Given the description of an element on the screen output the (x, y) to click on. 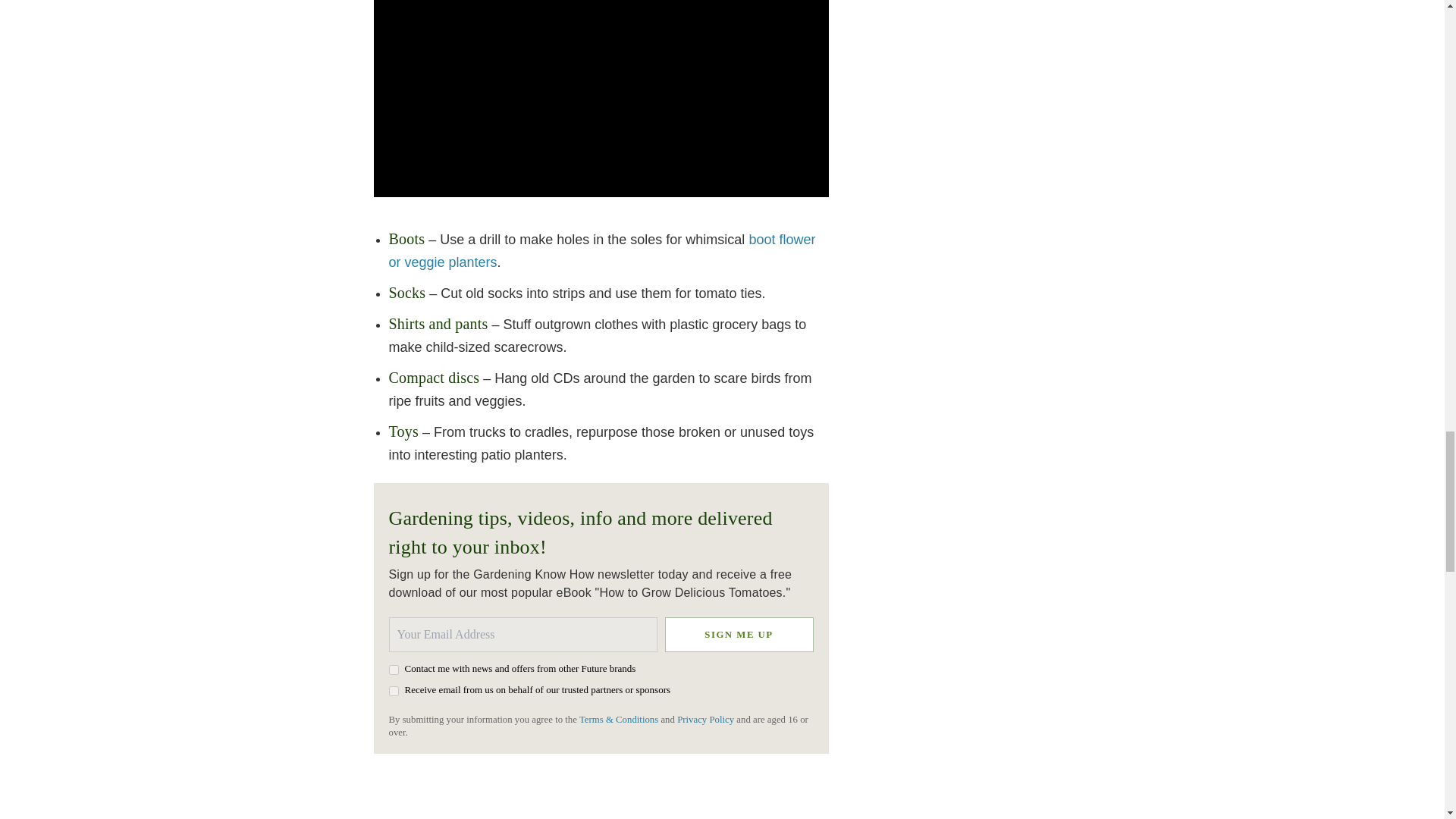
on (392, 669)
Sign me up (737, 634)
on (392, 691)
